Given the description of an element on the screen output the (x, y) to click on. 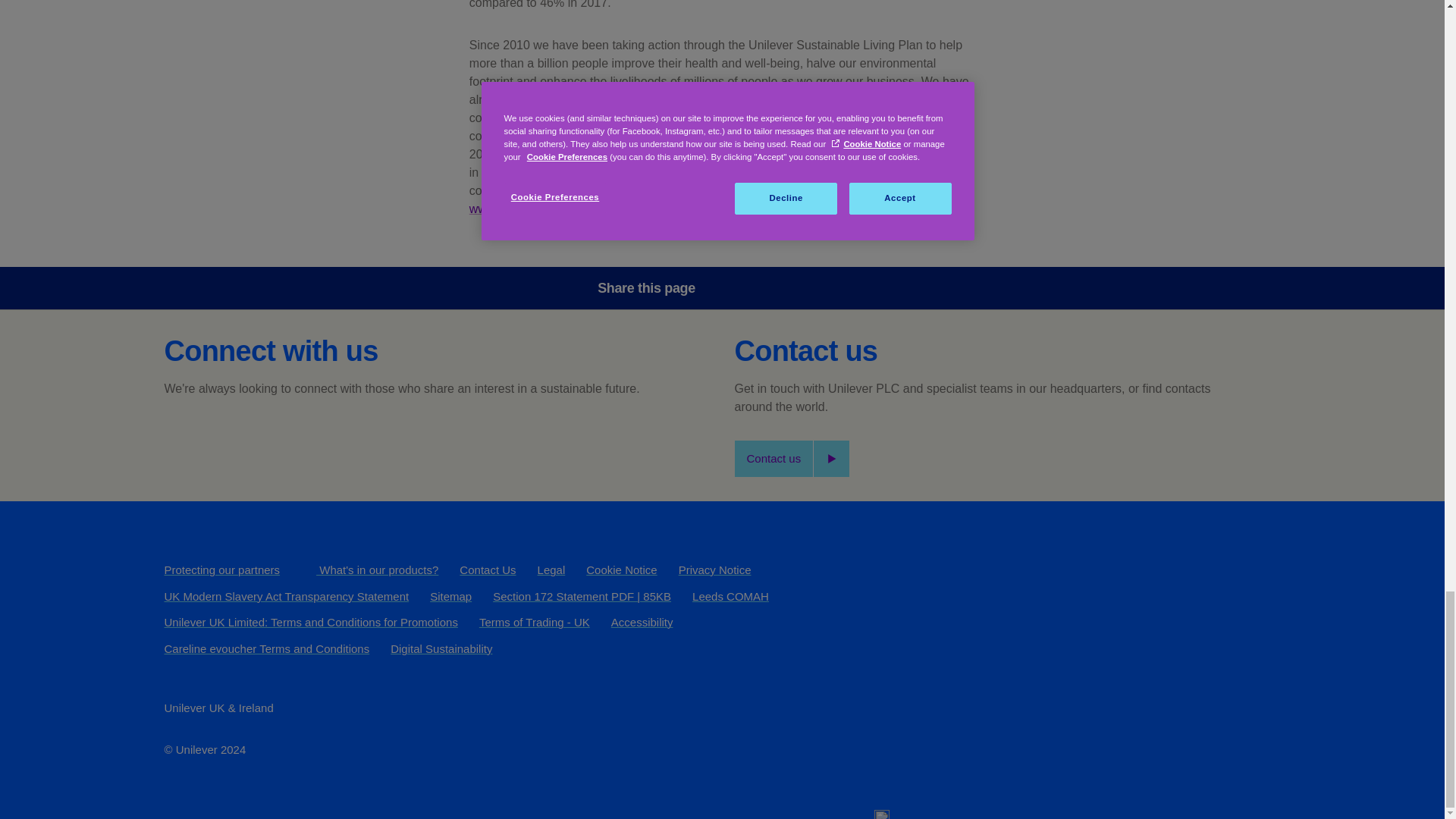
Connect with us on LinkedIn (303, 439)
Share this page on Linked In (825, 287)
Connect with us on Facebook (181, 439)
www.unilever.com (517, 208)
Protecting our partners (221, 569)
Connect with us on Instagram (344, 439)
Share this page on E-mail (868, 287)
Contact us (790, 458)
Share this page on Facebook (740, 287)
Connect with us on X (222, 439)
